Given the description of an element on the screen output the (x, y) to click on. 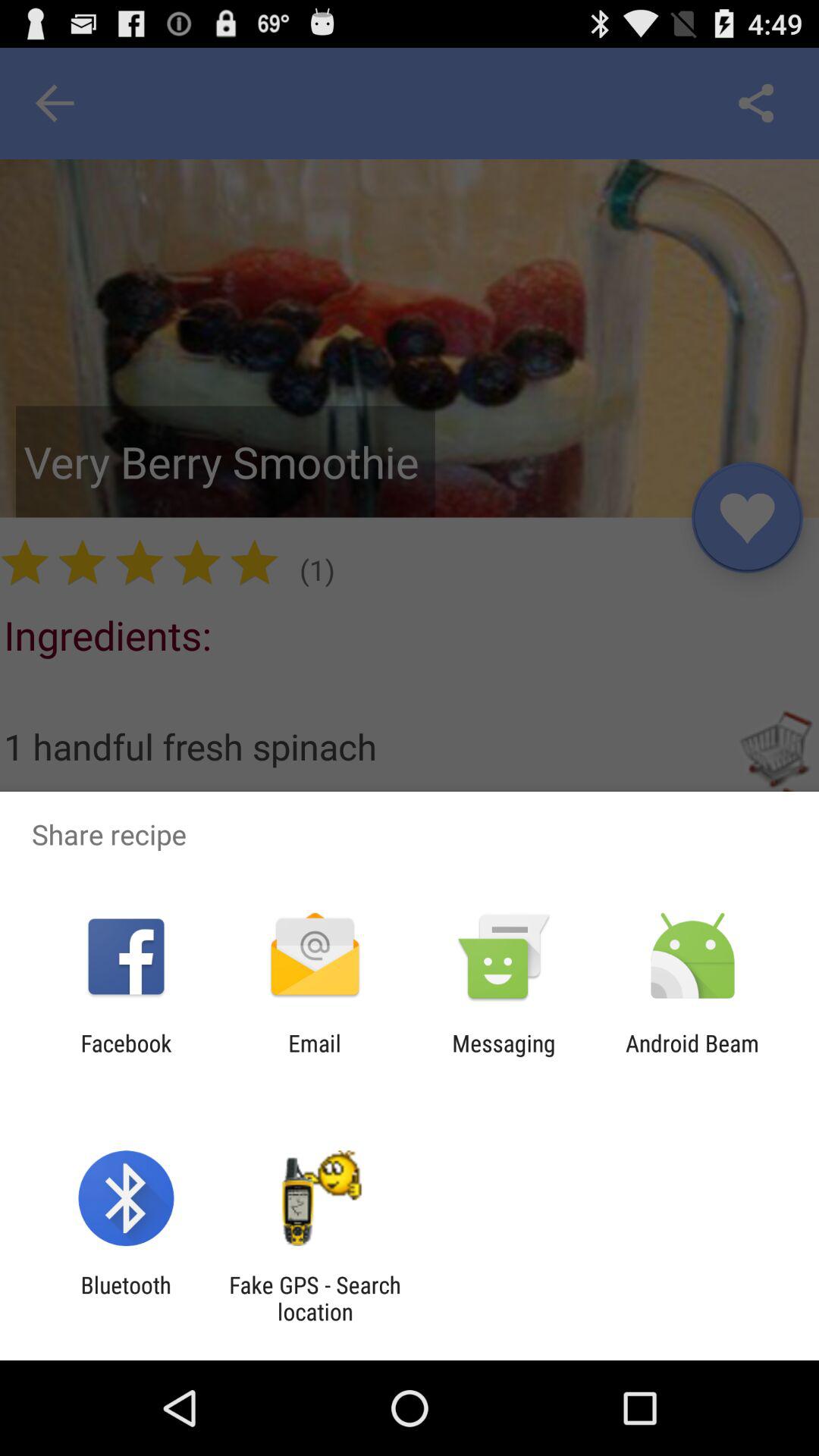
tap the app next to the messaging item (314, 1056)
